Given the description of an element on the screen output the (x, y) to click on. 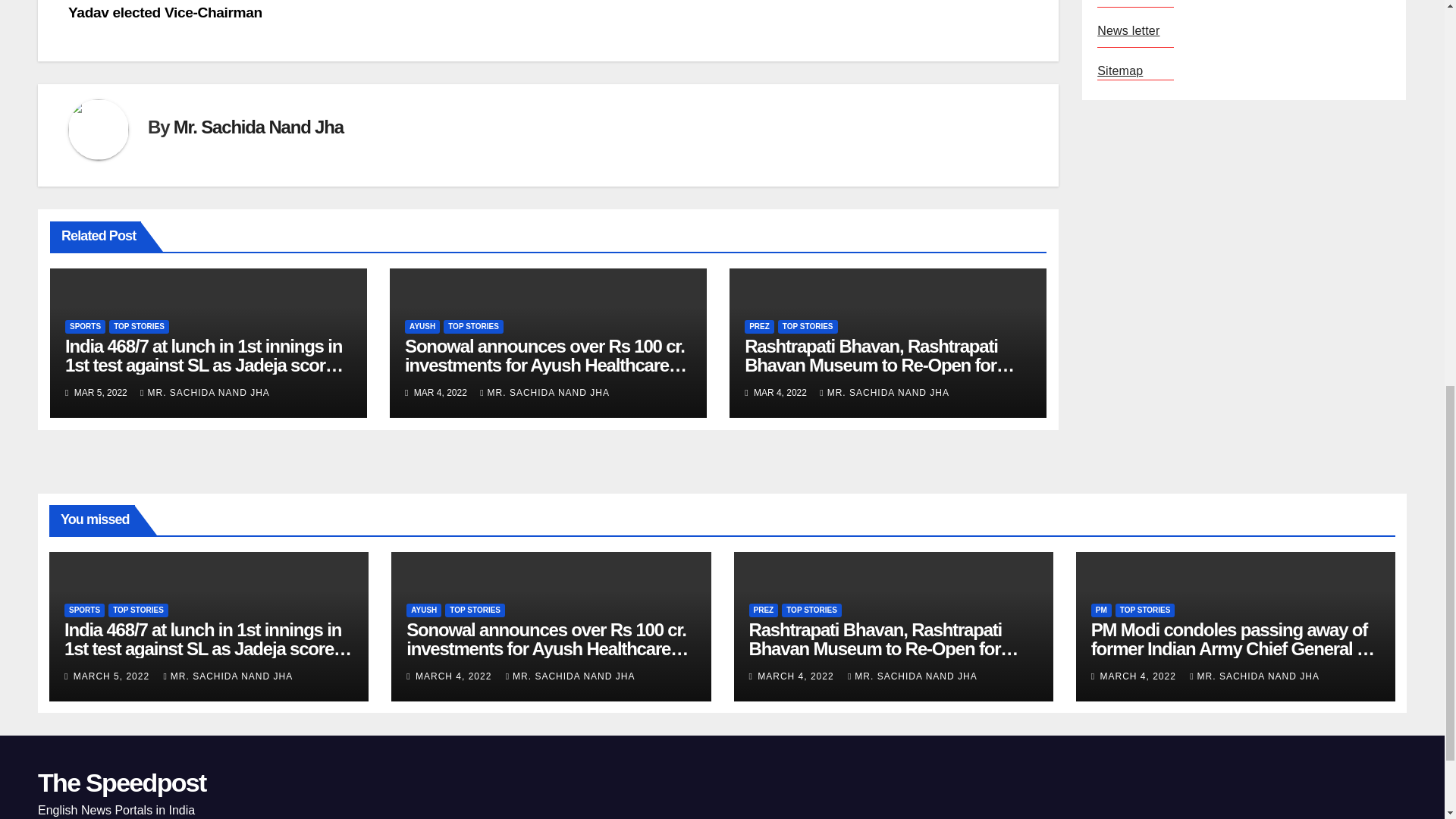
TOP STORIES (138, 326)
Mr. Sachida Nand Jha (258, 127)
SPORTS (84, 326)
